Given the description of an element on the screen output the (x, y) to click on. 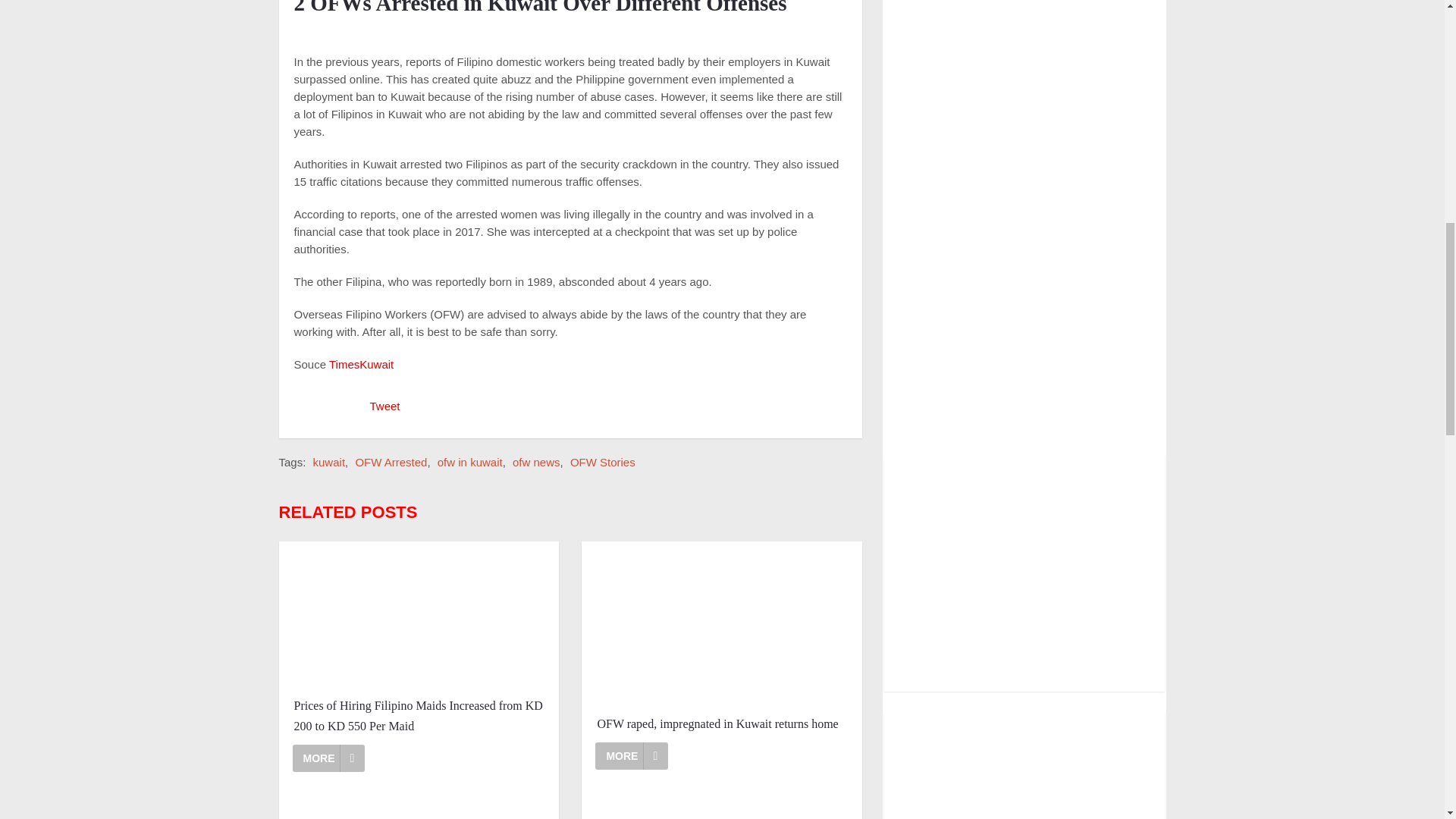
ofw in kuwait (470, 461)
OFW raped, impregnated in Kuwait returns home (631, 755)
OFW Arrested (390, 461)
OFW raped, impregnated in Kuwait returns home (720, 622)
OFW Stories (602, 461)
ofw news (536, 461)
TimesKuwait (359, 364)
OFW raped, impregnated in Kuwait returns home (721, 723)
kuwait (329, 461)
Tweet (384, 405)
